Given the description of an element on the screen output the (x, y) to click on. 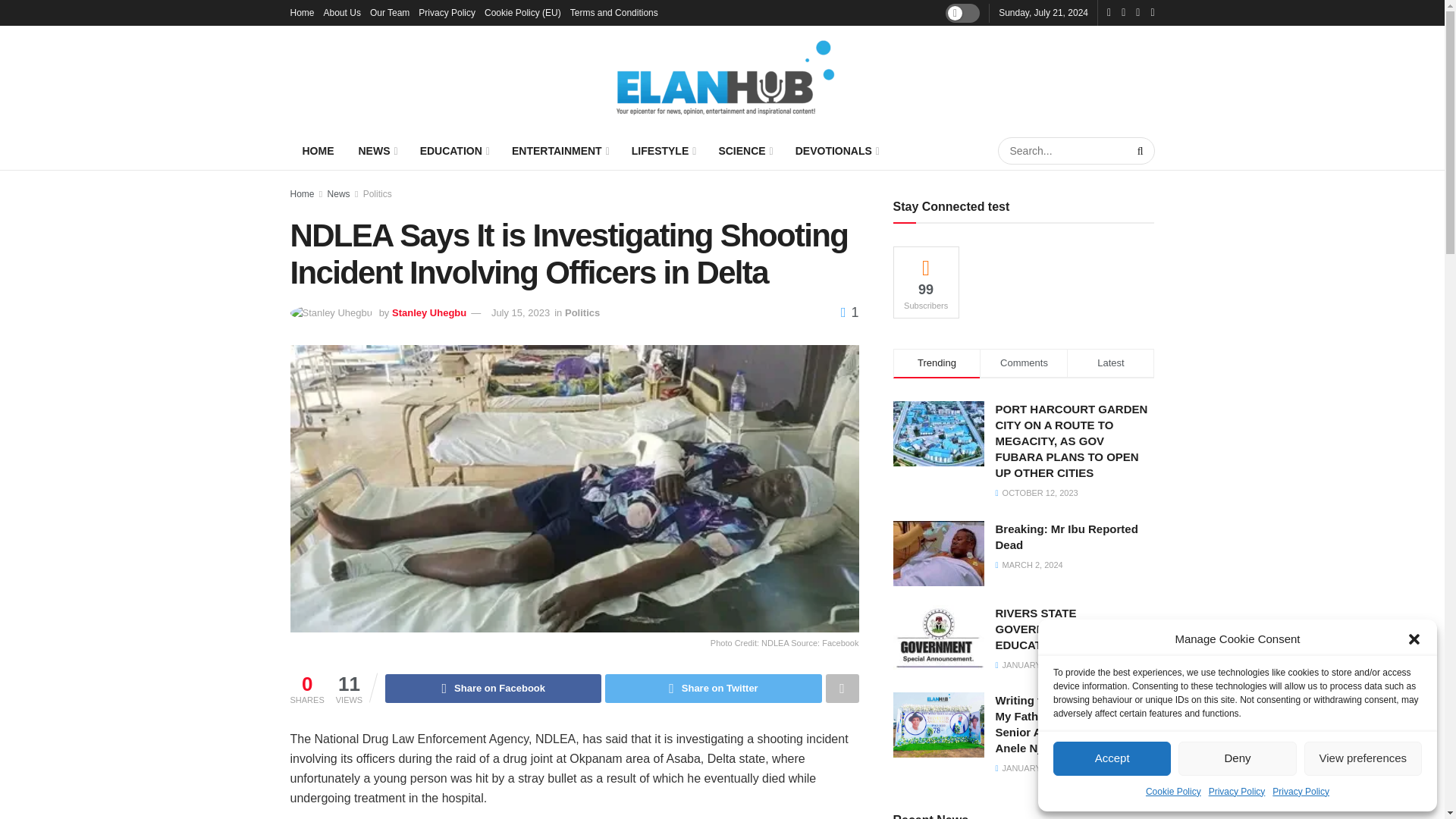
Home (301, 12)
Cookie Policy (1173, 791)
View preferences (1363, 758)
Our Team (389, 12)
EDUCATION (453, 150)
Privacy Policy (1300, 791)
Deny (1236, 758)
LIFESTYLE (663, 150)
About Us (342, 12)
Accept (1111, 758)
NEWS (376, 150)
Privacy Policy (447, 12)
ENTERTAINMENT (559, 150)
Terms and Conditions (614, 12)
Privacy Policy (1236, 791)
